Given the description of an element on the screen output the (x, y) to click on. 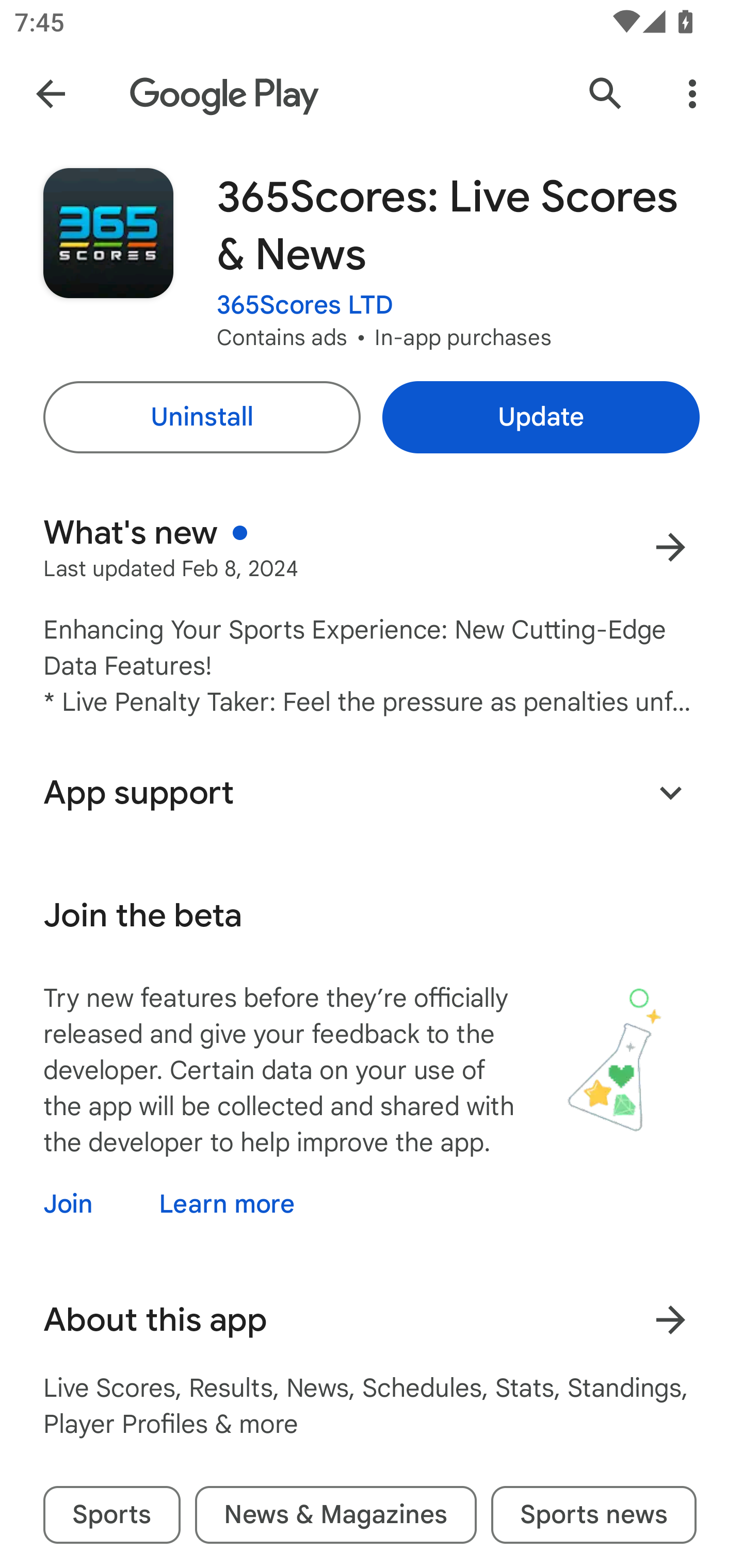
Navigate up (50, 93)
Search Google Play (605, 93)
More Options (692, 93)
365Scores LTD (304, 304)
Uninstall (201, 416)
Update (540, 416)
More results for What's new (670, 547)
App support Expand (371, 792)
Expand (670, 792)
Join (86, 1204)
Learn more (226, 1204)
About this app Learn more About this app (371, 1320)
Learn more About this app (670, 1319)
Sports tag (111, 1514)
News & Magazines tag (335, 1514)
Sports news tag (593, 1514)
